Given the description of an element on the screen output the (x, y) to click on. 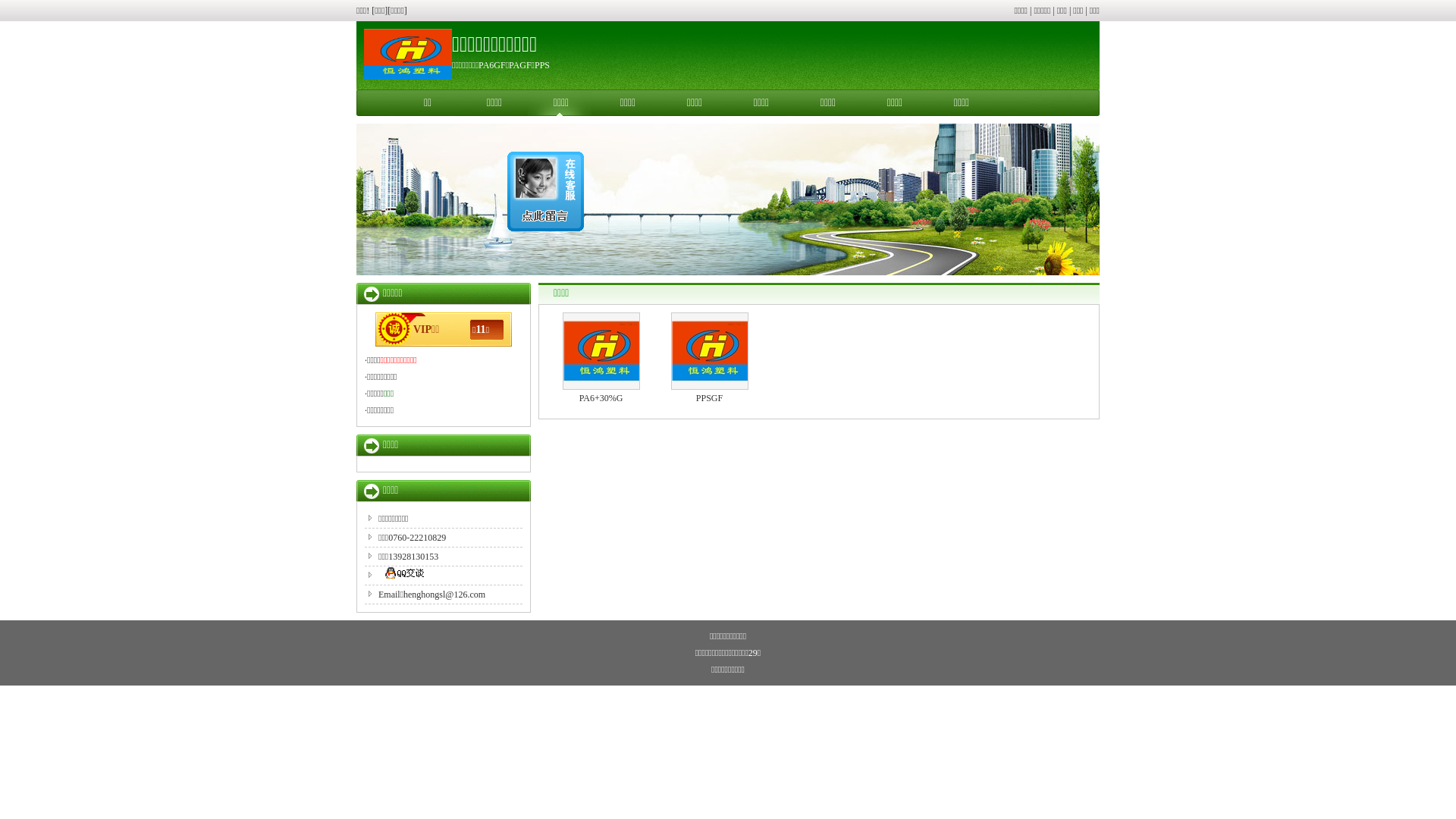
PA6+30%G Element type: text (601, 397)
PPSGF Element type: text (709, 397)
